Given the description of an element on the screen output the (x, y) to click on. 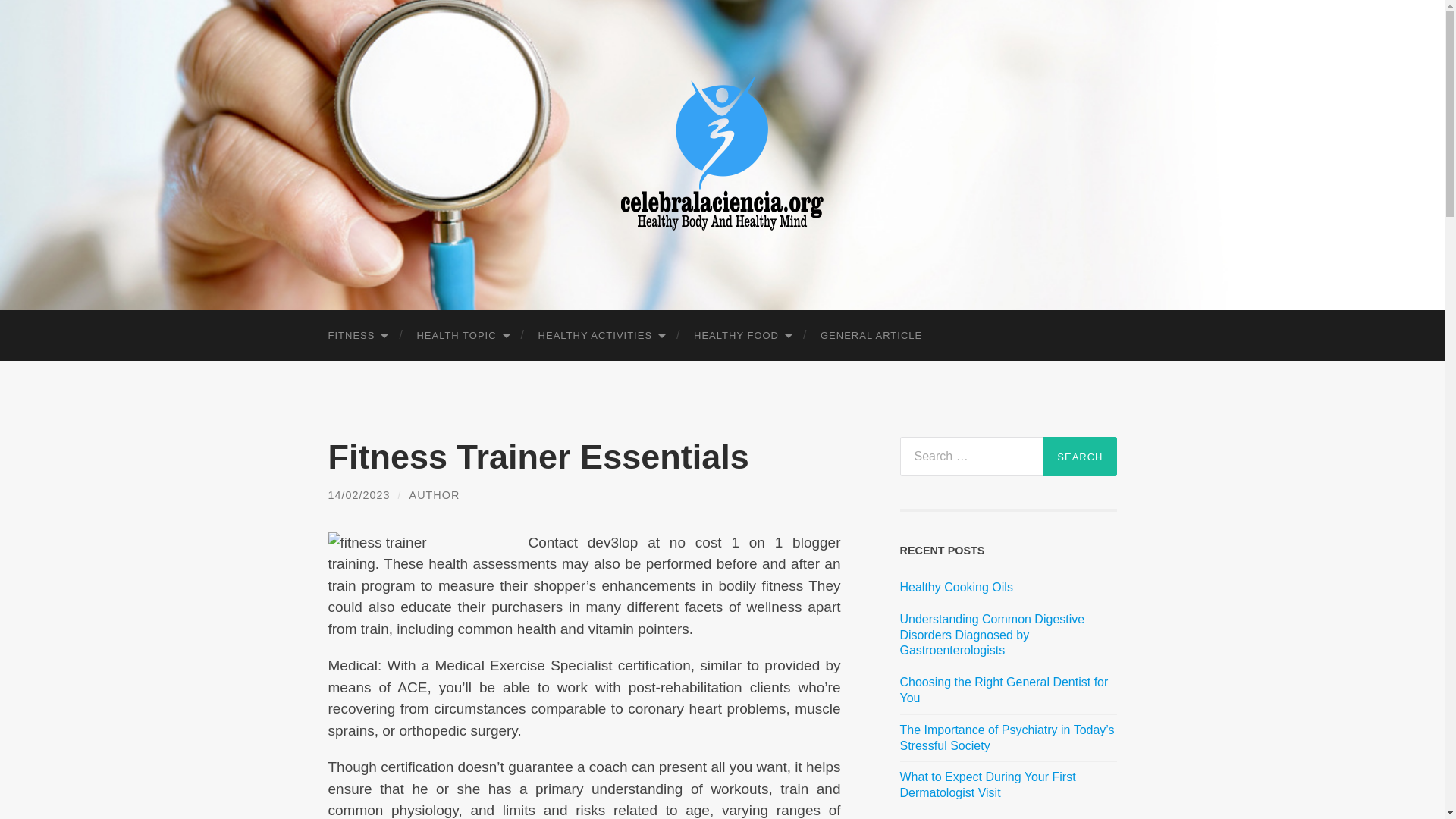
FITNESS (357, 335)
Search (1079, 455)
HEALTH TOPIC (461, 335)
GENERAL ARTICLE (871, 335)
celebralaciencia.org (722, 153)
HEALTHY ACTIVITIES (600, 335)
Posts by Author (434, 494)
HEALTHY FOOD (741, 335)
Search (1079, 455)
